Given the description of an element on the screen output the (x, y) to click on. 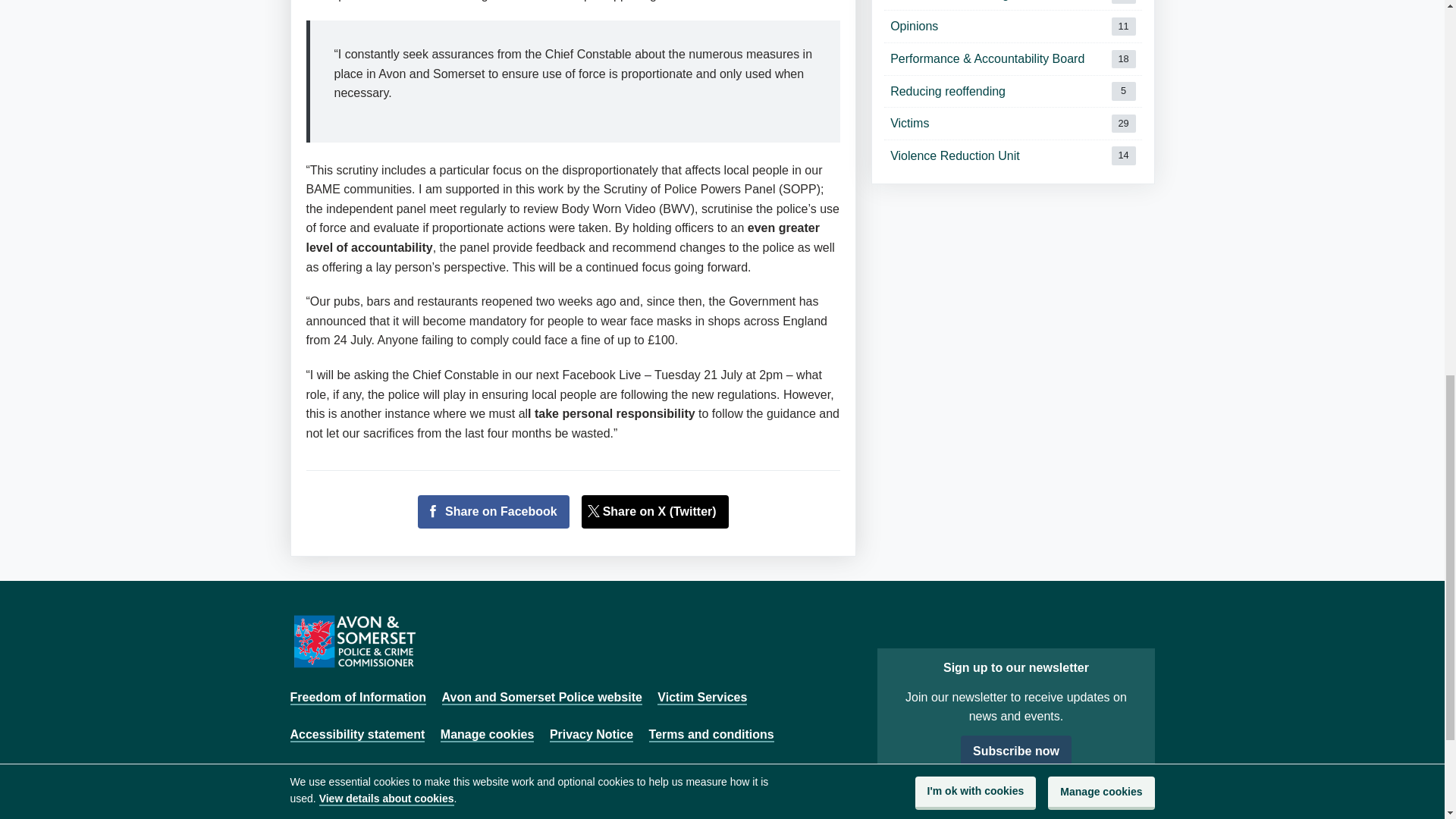
Avon and Somerset Police website (1012, 26)
Share on Facebook (1012, 91)
Freedom of Information (542, 698)
